Given the description of an element on the screen output the (x, y) to click on. 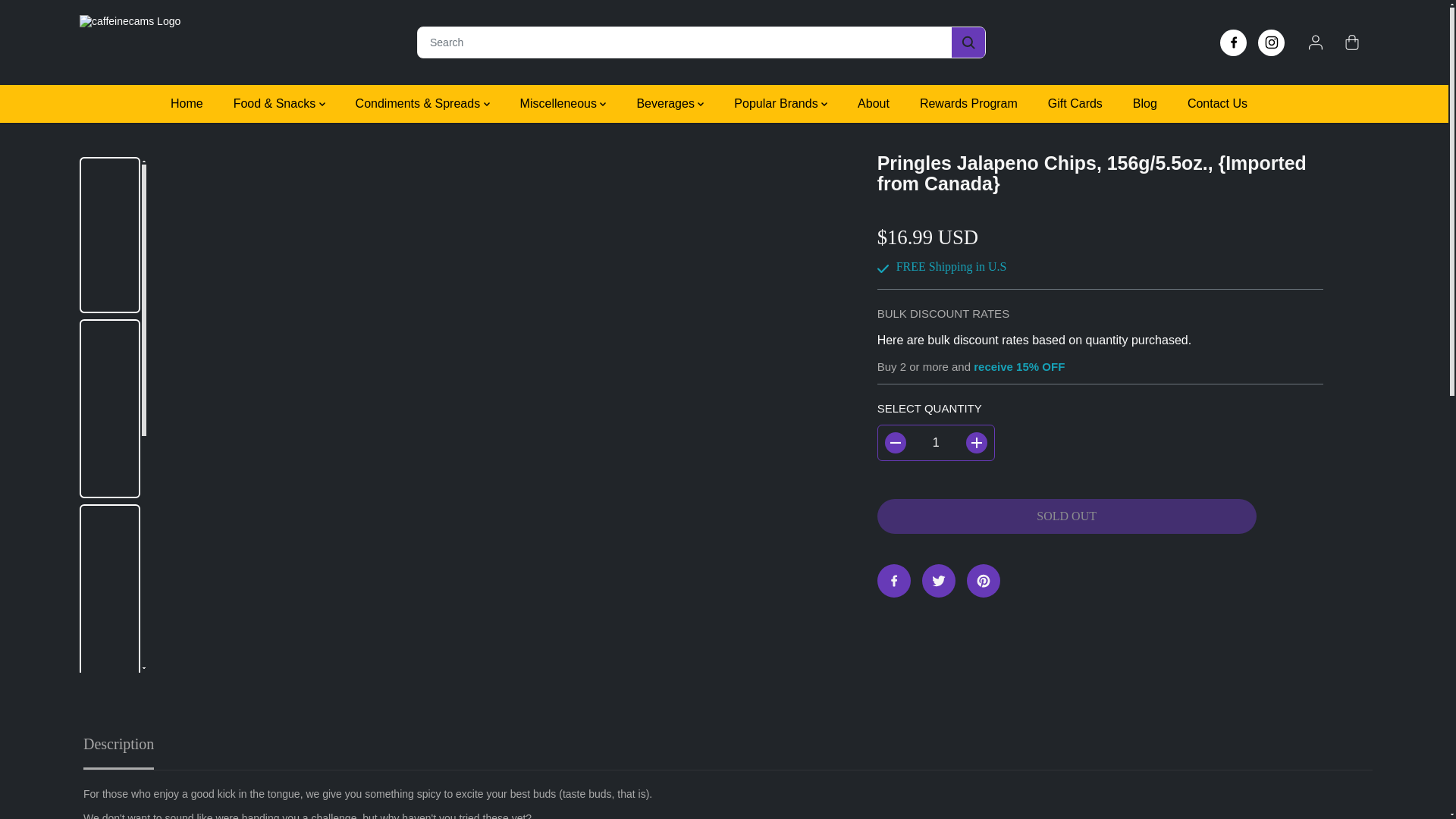
Facebook (1233, 41)
Log in (1315, 41)
1 (935, 443)
Facebook (894, 580)
SKIP TO CONTENT (60, 11)
Twitter (938, 580)
Pinterest (983, 580)
Cart (1351, 41)
